Given the description of an element on the screen output the (x, y) to click on. 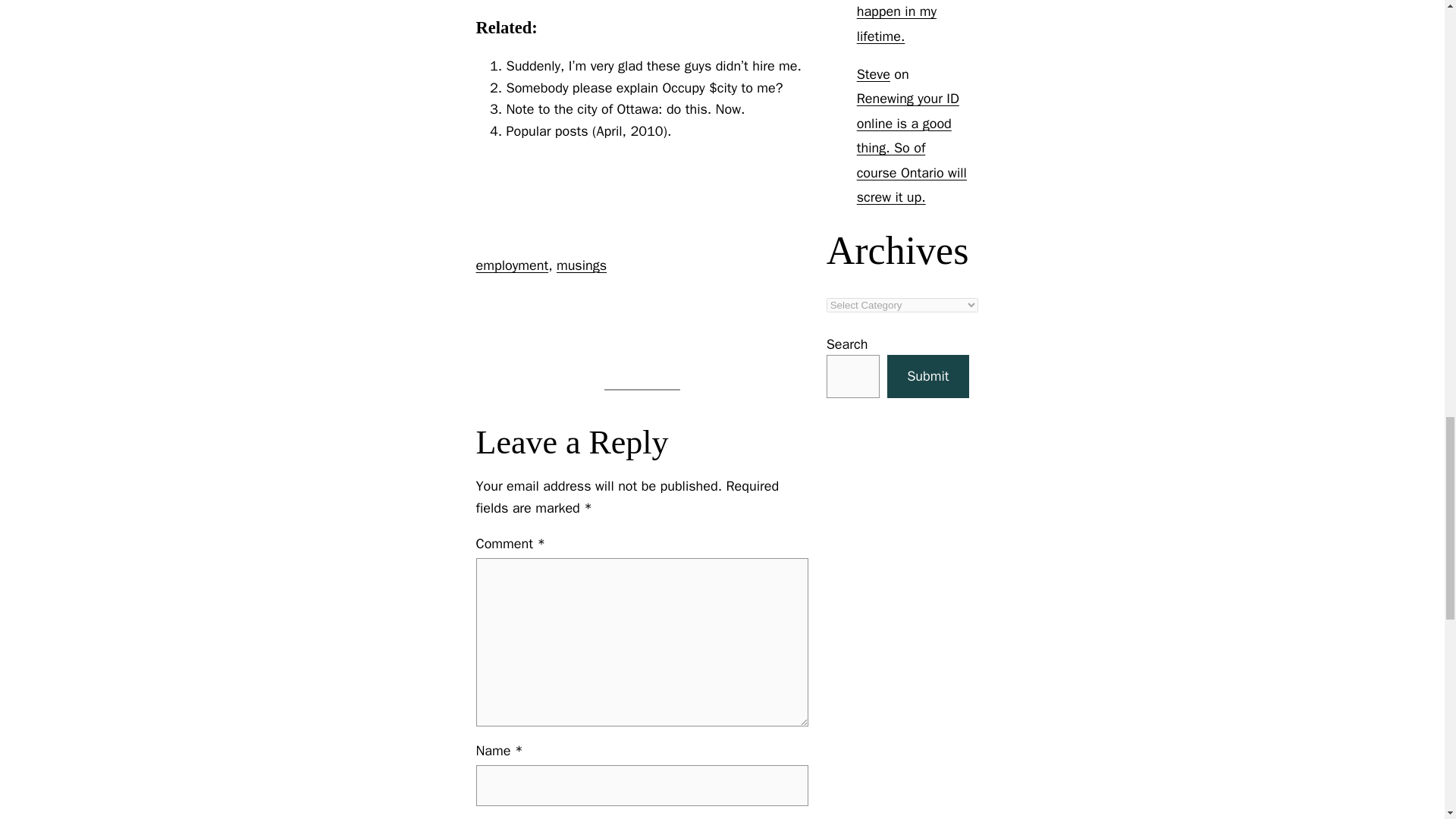
Note to the city of Ottawa: do this. Now. (625, 108)
employment (512, 265)
Steve (873, 74)
musings (581, 265)
Submit (927, 376)
Note to the city of Ottawa: do this. Now. (625, 108)
